Given the description of an element on the screen output the (x, y) to click on. 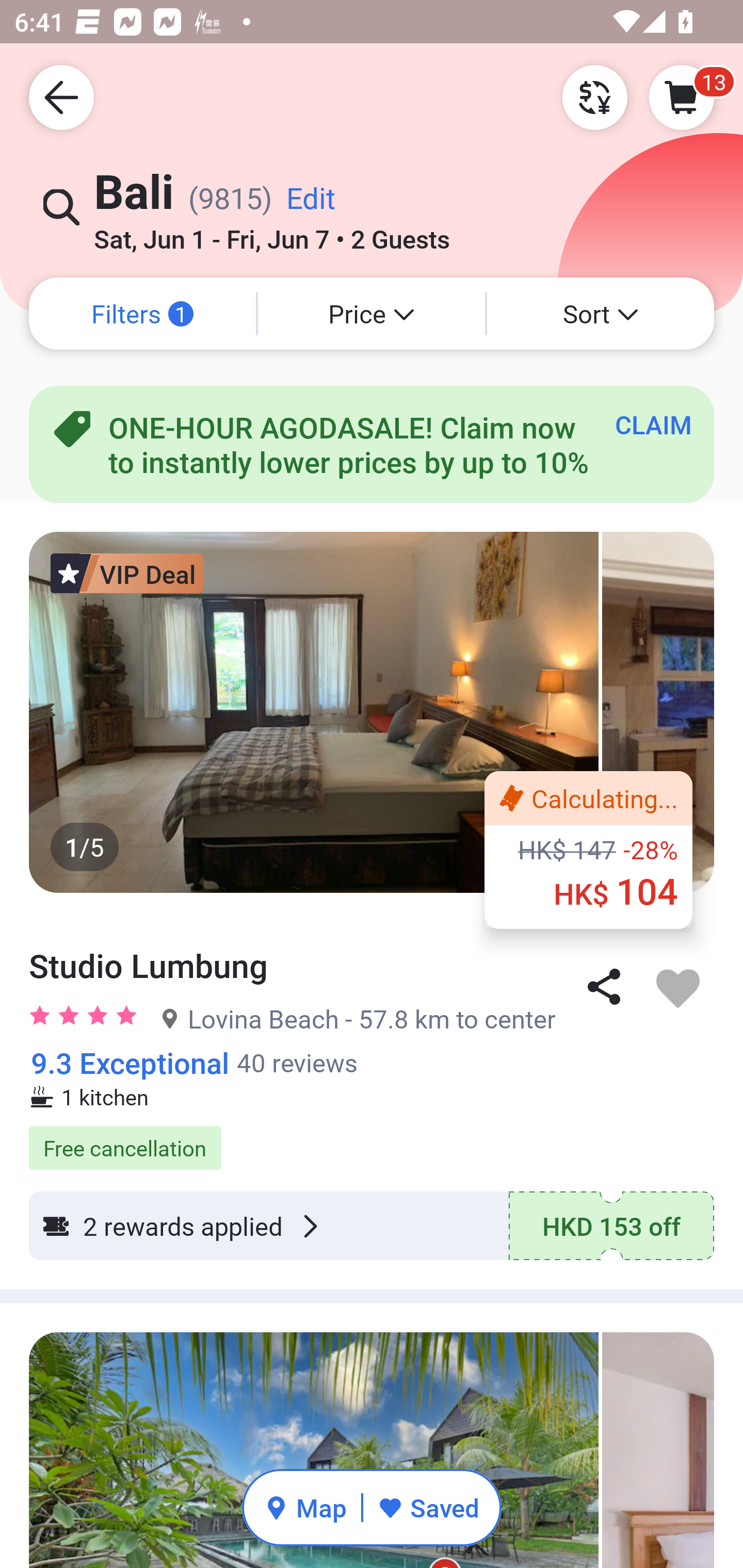
Filters 1 (141, 313)
Price (371, 313)
Sort (600, 313)
CLAIM (653, 424)
VIP Deal (126, 572)
1/5 (371, 711)
Calculating... ‪HK$ 147 -28% ‪HK$ 104 (588, 849)
Free cancellation (371, 1137)
2 rewards applied HKD 153 off (371, 1226)
Map (305, 1507)
Saved (428, 1507)
